Given the description of an element on the screen output the (x, y) to click on. 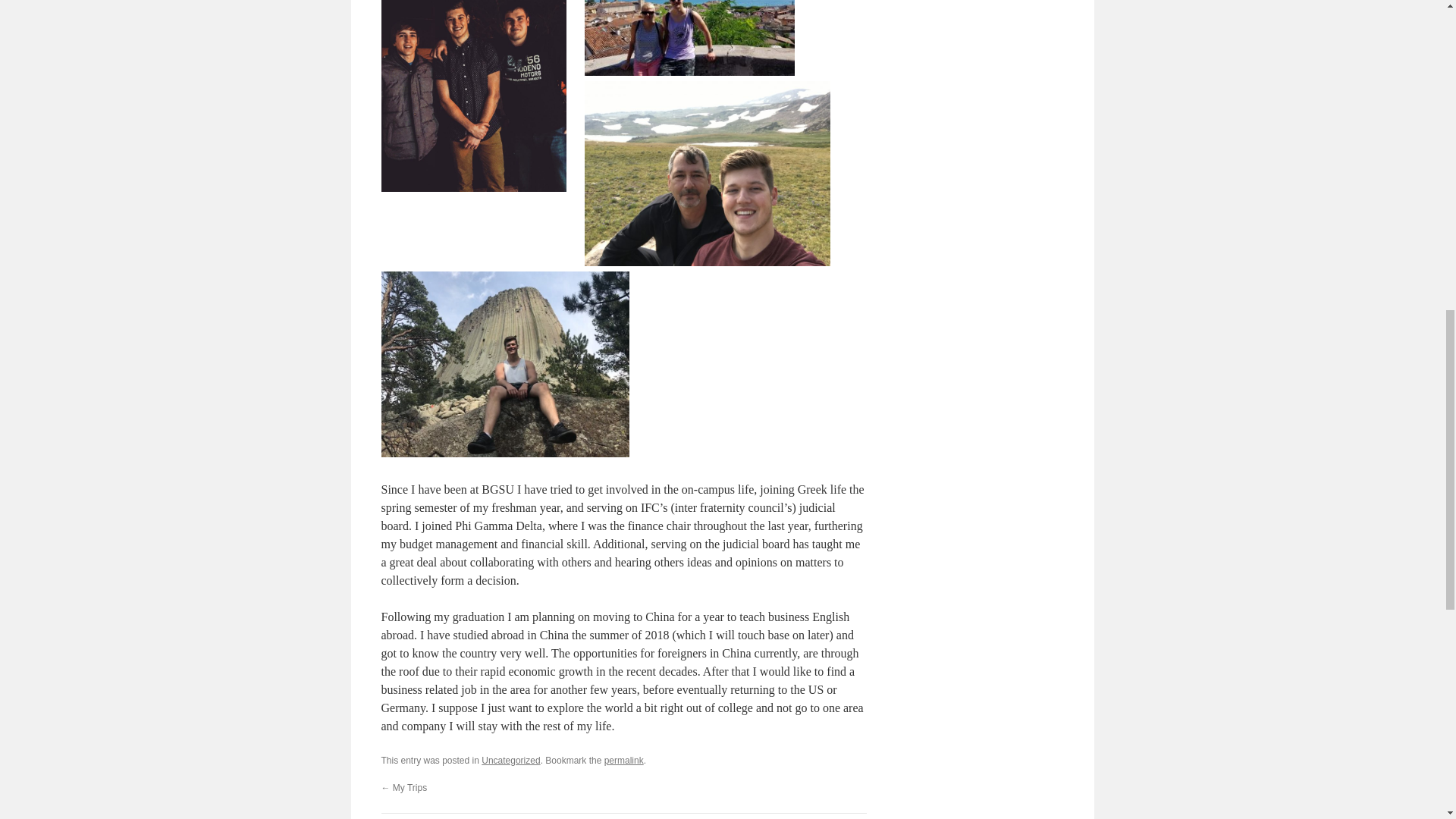
Permalink to About Myself (623, 760)
permalink (623, 760)
Uncategorized (510, 760)
